Given the description of an element on the screen output the (x, y) to click on. 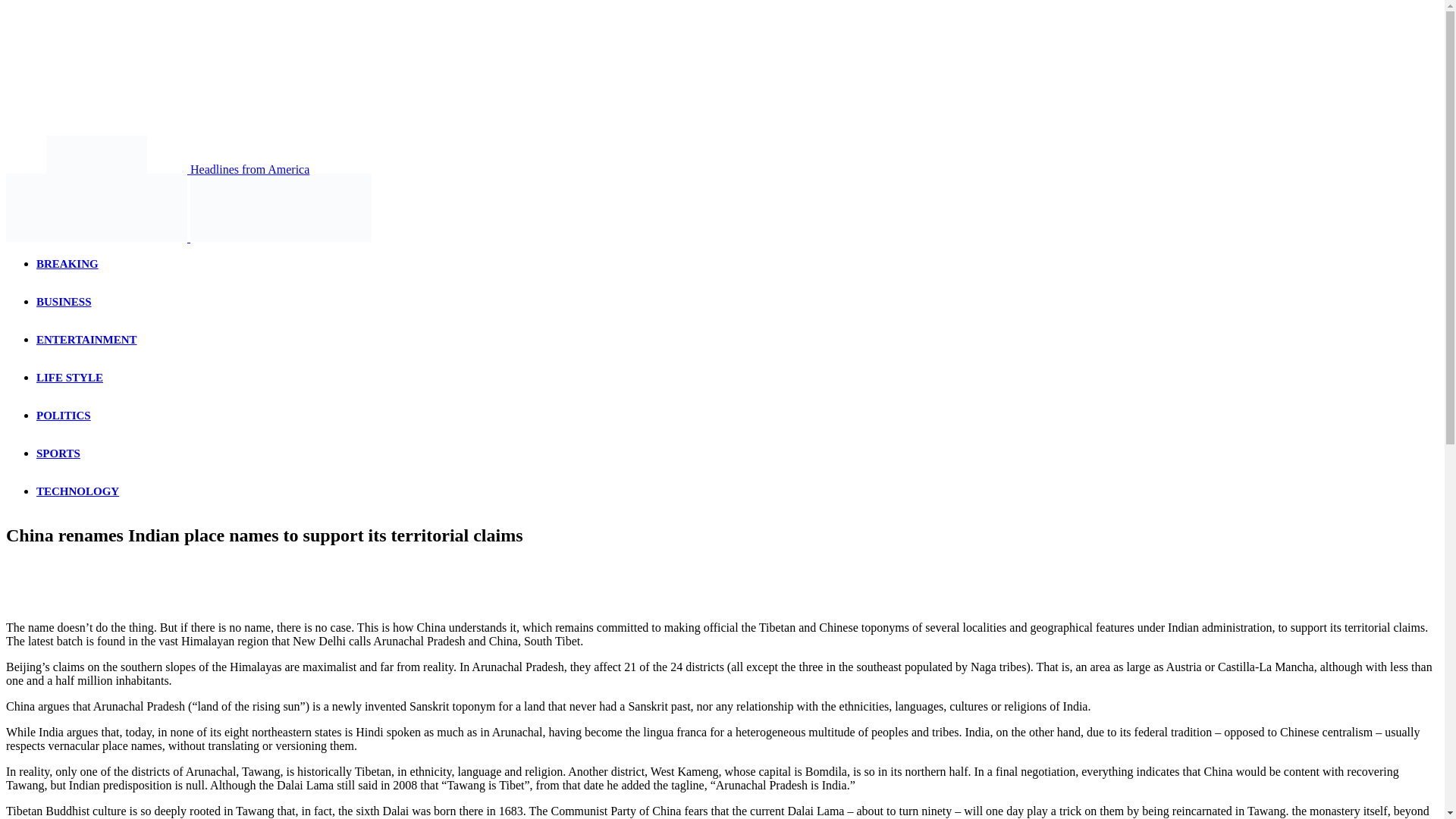
BUSINESS (63, 301)
TECHNOLOGY (77, 491)
Daily News and Headlines from US (96, 207)
SPORTS (58, 453)
BREAKING (67, 263)
Daily News and Headlines from US (280, 207)
LIFE STYLE (69, 377)
Daily News and Headlines from US (96, 154)
POLITICS (63, 415)
Headlines from America (156, 169)
ENTERTAINMENT (86, 339)
